Given the description of an element on the screen output the (x, y) to click on. 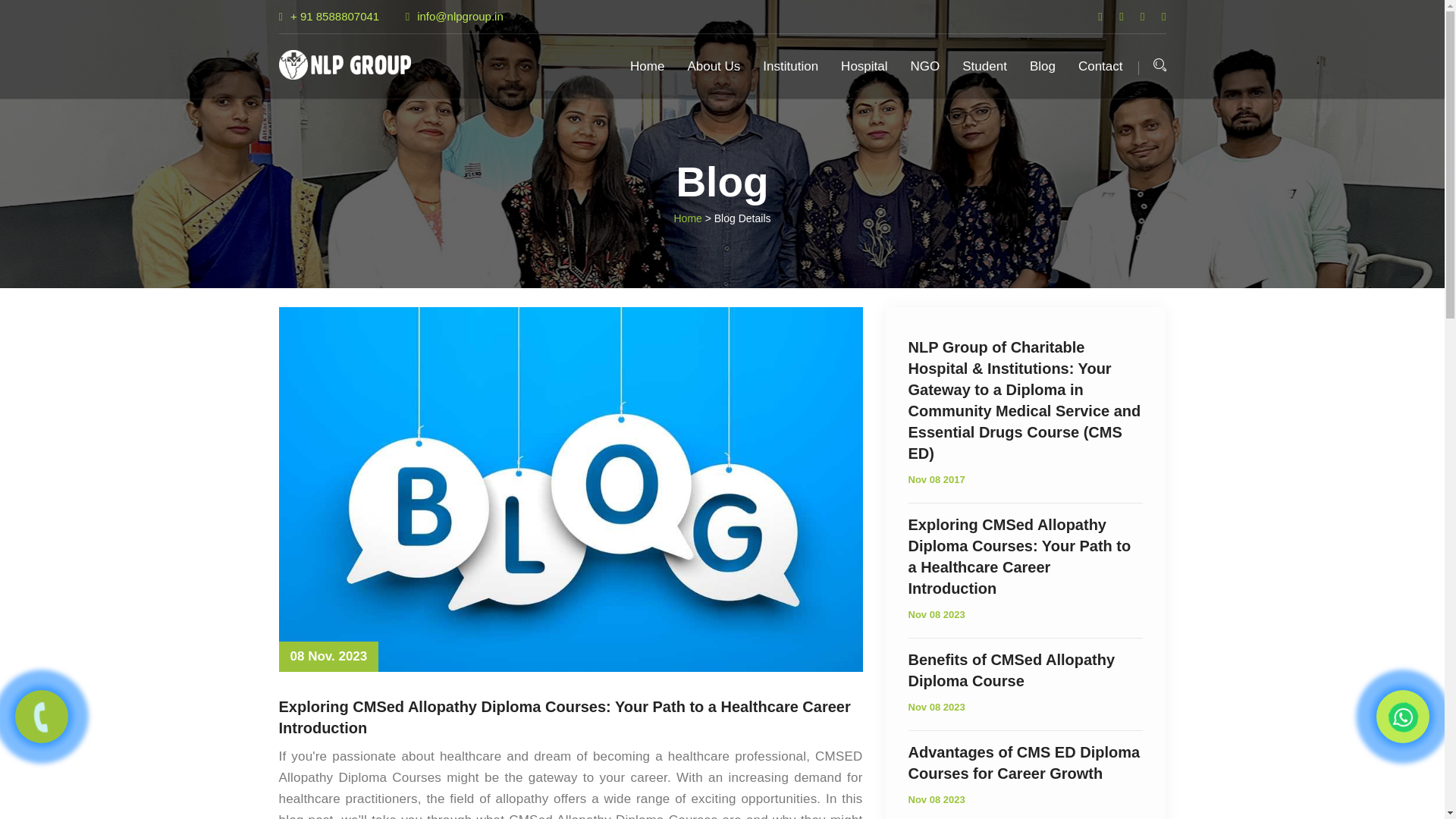
Benefits of CMSed Allopathy Diploma Course (1025, 669)
Advantages of CMS ED Diploma Courses for Career Growth (1025, 762)
